Given the description of an element on the screen output the (x, y) to click on. 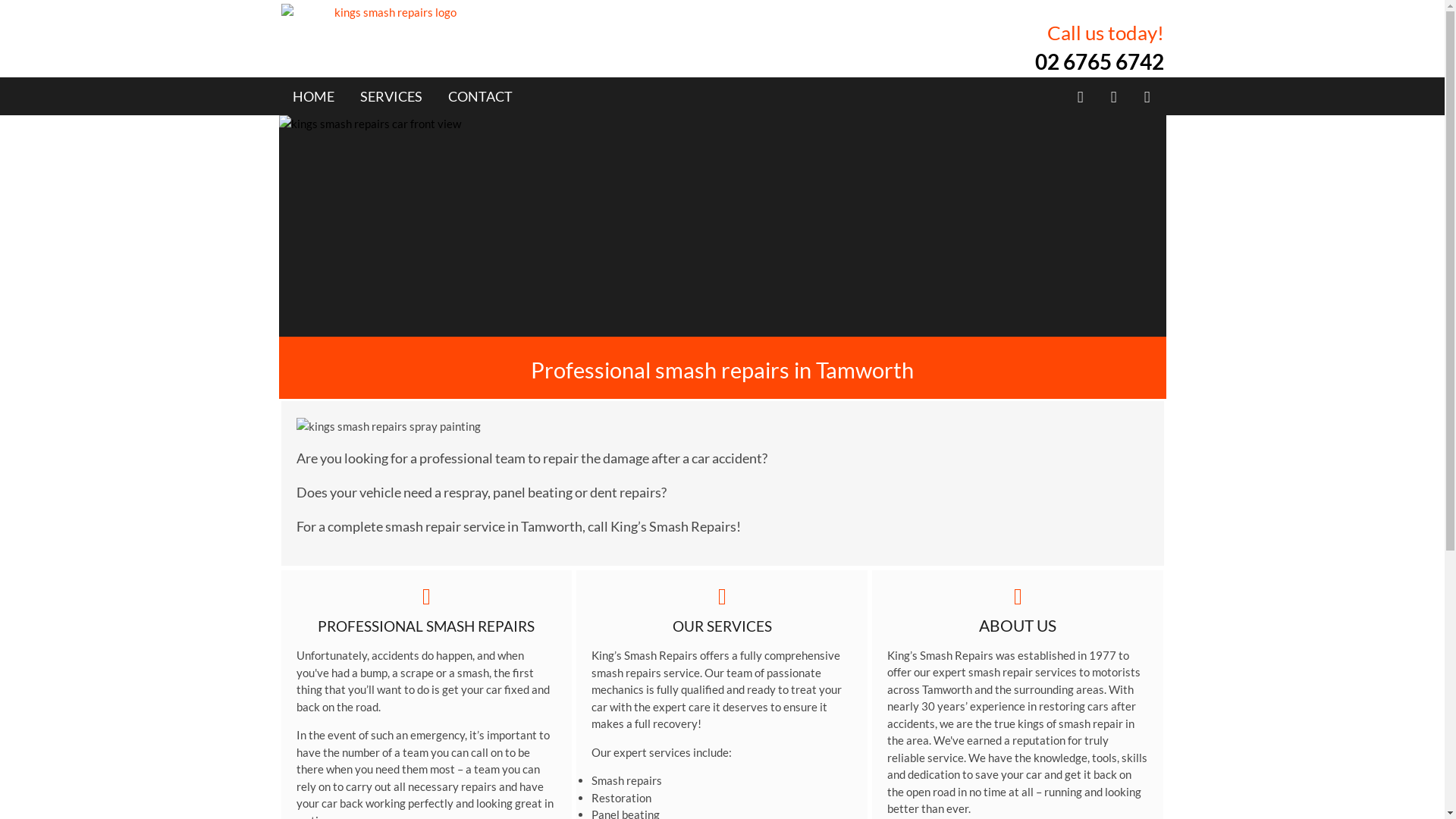
kings smash repairs car front view Element type: hover (722, 226)
kings smash repairs spray painting Element type: hover (504, 426)
kings smash repairs logo Element type: hover (389, 12)
02 6765 6742 Element type: text (1098, 61)
CONTACT Element type: text (479, 96)
HOME Element type: text (313, 96)
SERVICES Element type: text (390, 96)
